Given the description of an element on the screen output the (x, y) to click on. 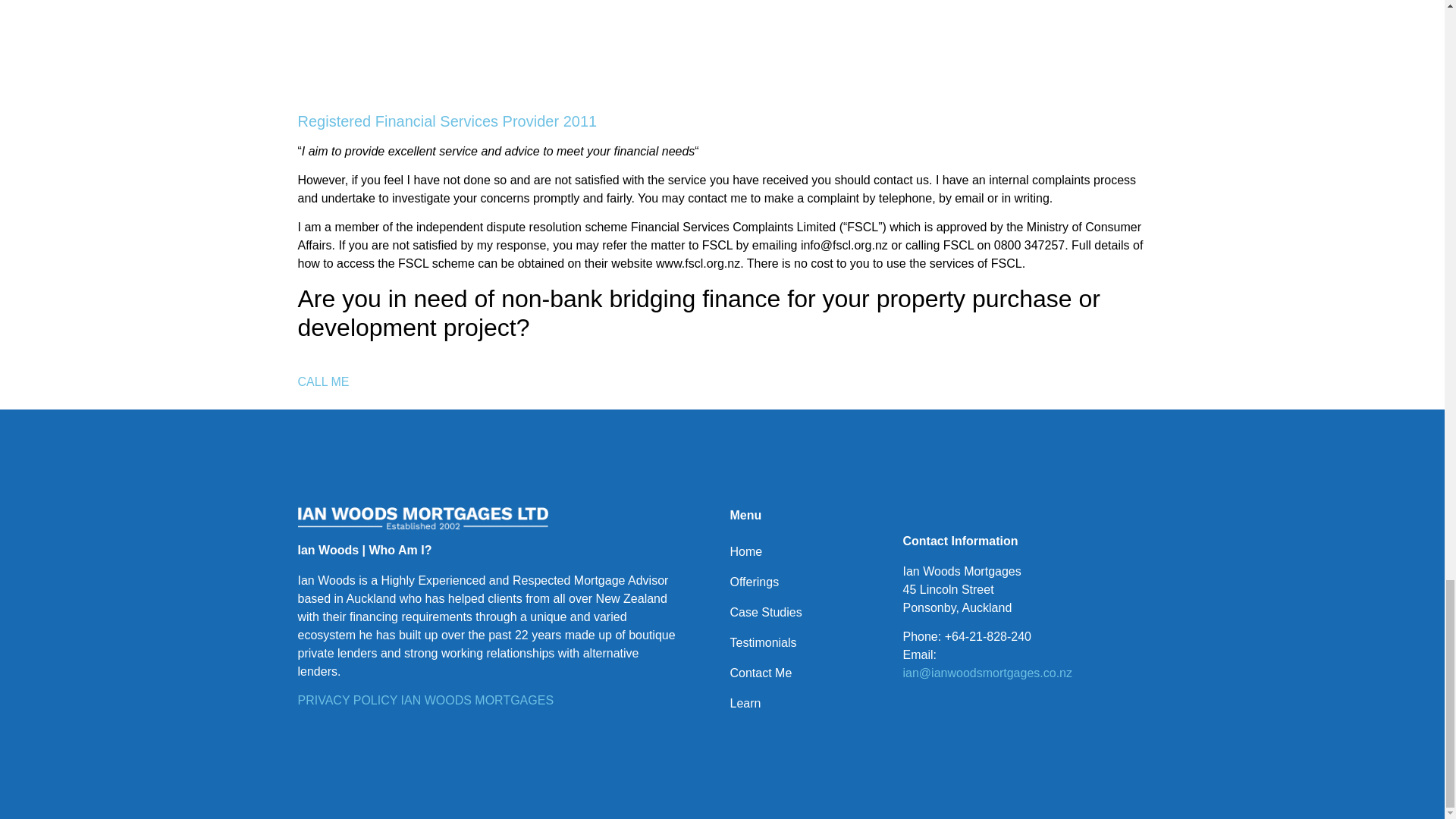
Testimonials (800, 643)
Contact Me (800, 673)
Registered Financial Services Provider 2011 (446, 121)
Home (800, 552)
Case Studies (800, 612)
Offerings (800, 582)
PRIVACY POLICY IAN WOODS MORTGAGES (425, 699)
Learn (800, 703)
CALL ME (323, 390)
